Given the description of an element on the screen output the (x, y) to click on. 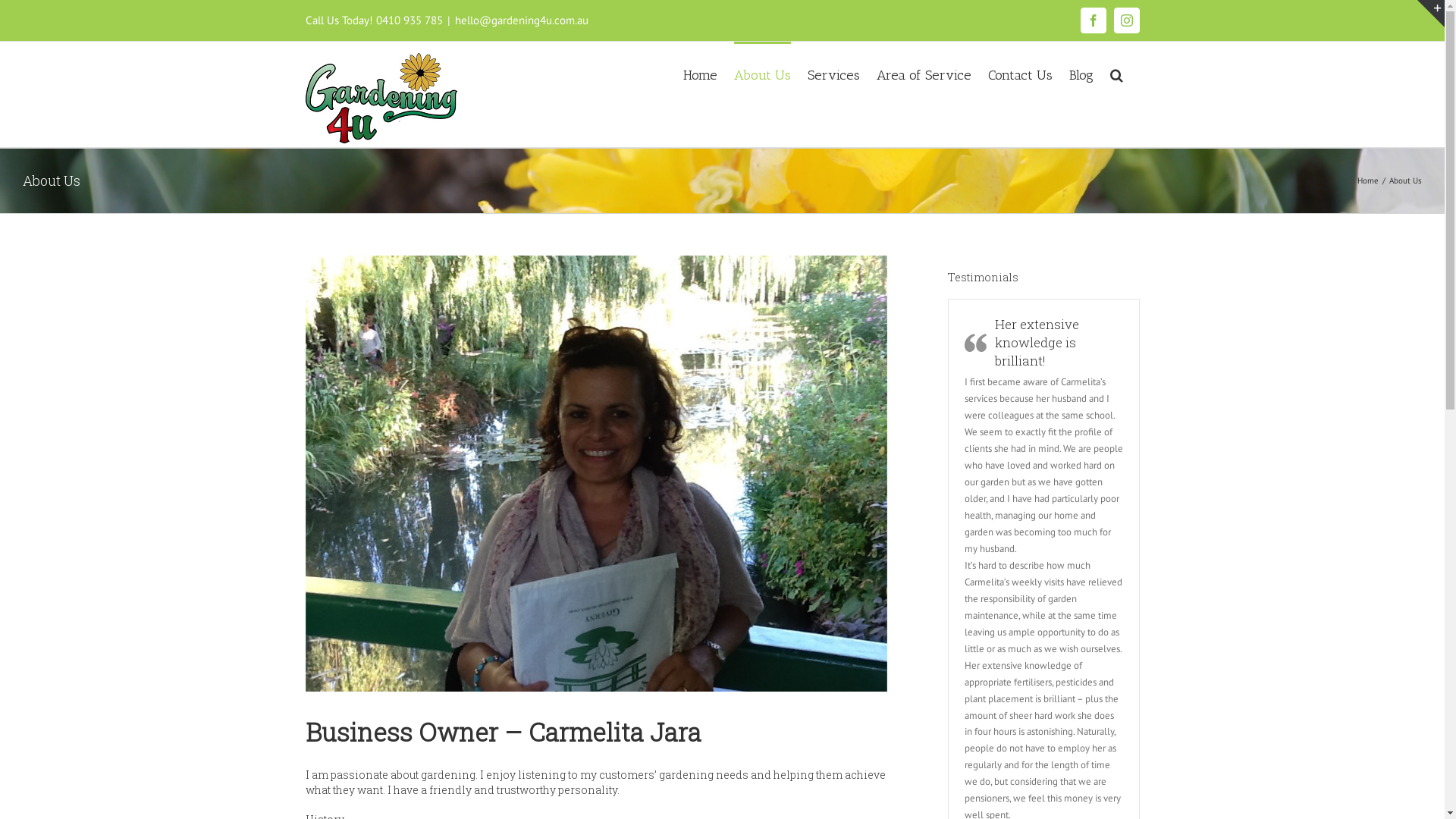
Contact Us Element type: text (1019, 73)
Search Element type: hover (1116, 73)
hello@gardening4u.com.au Element type: text (521, 19)
instagram Element type: text (1126, 20)
Services Element type: text (832, 73)
Area of Service Element type: text (923, 73)
Home Element type: text (1367, 180)
Blog Element type: text (1081, 73)
facebook Element type: text (1092, 20)
Home Element type: text (699, 73)
Her extensive knowledge is brilliant! Element type: text (1036, 342)
About Us Element type: text (762, 73)
Toggle Sliding Bar Area Element type: text (1430, 13)
